Given the description of an element on the screen output the (x, y) to click on. 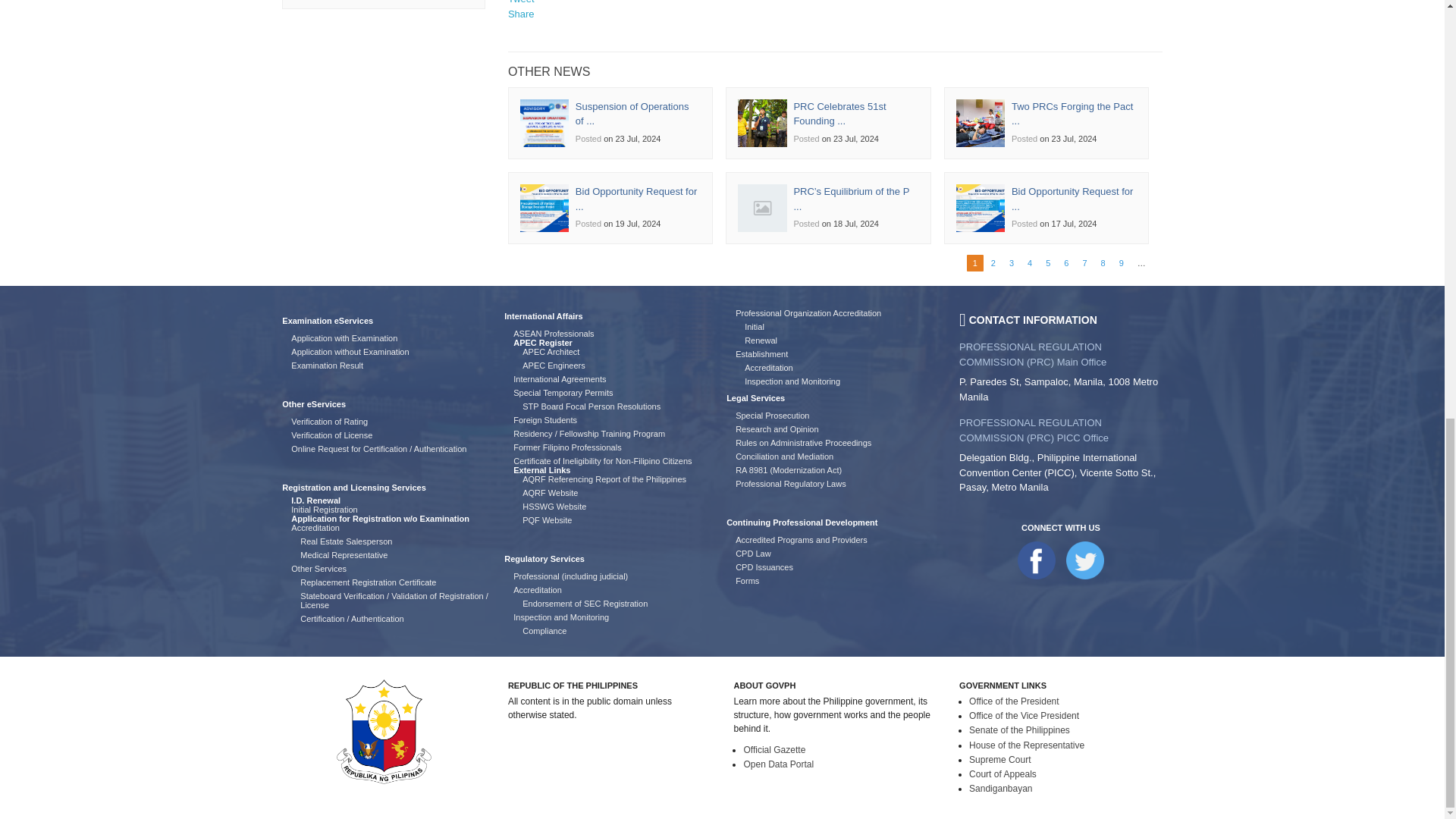
Go to page 8 (1102, 262)
Go to page 5 (1047, 262)
Go to page 4 (1029, 262)
Go to page 6 (1066, 262)
Go to page 3 (1011, 262)
Go to page 9 (1121, 262)
Go to page 7 (1083, 262)
Go to page 2 (993, 262)
